Given the description of an element on the screen output the (x, y) to click on. 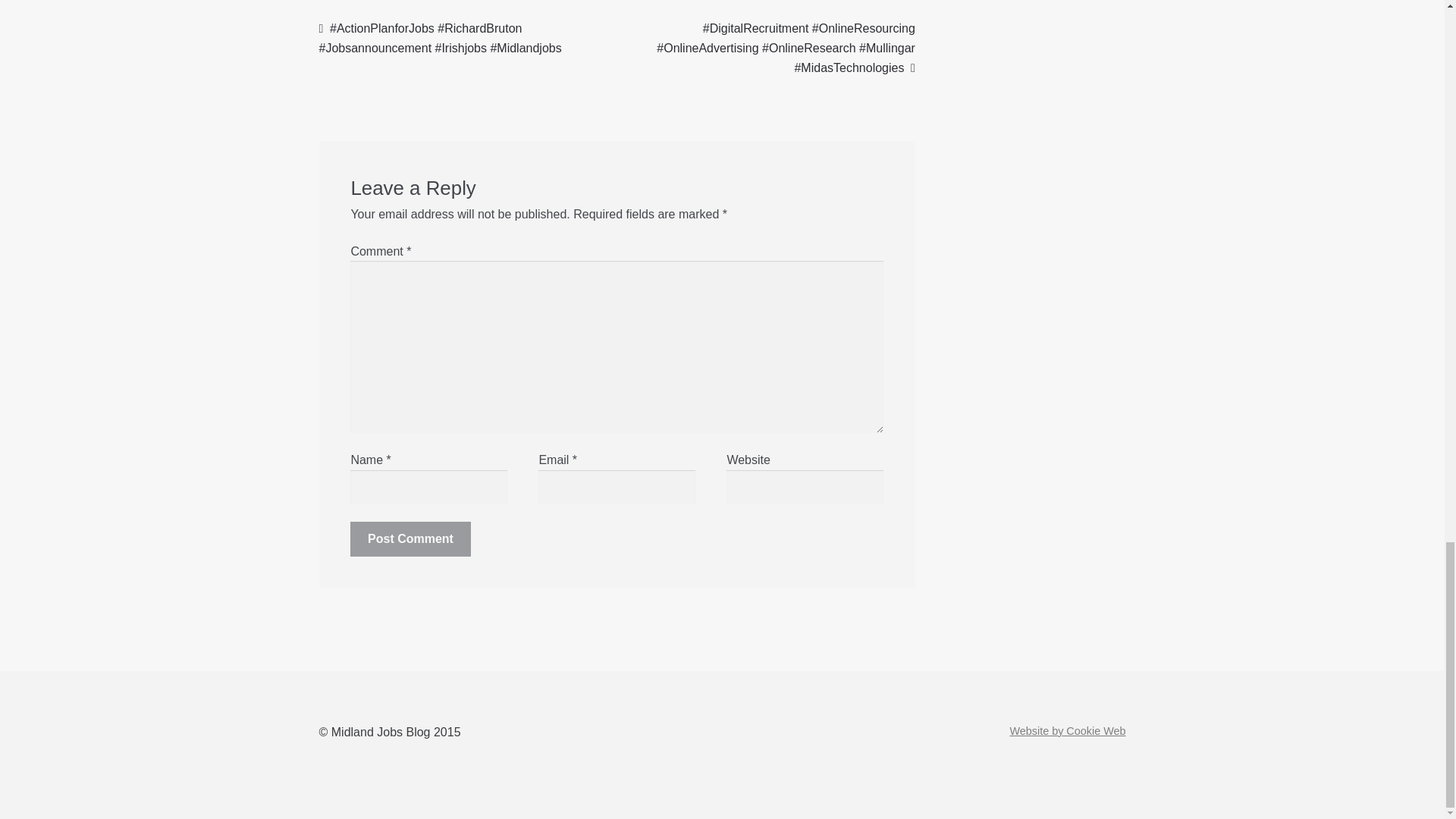
Post Comment (410, 538)
Post Comment (410, 538)
Website by Cookie Web (1067, 730)
